Given the description of an element on the screen output the (x, y) to click on. 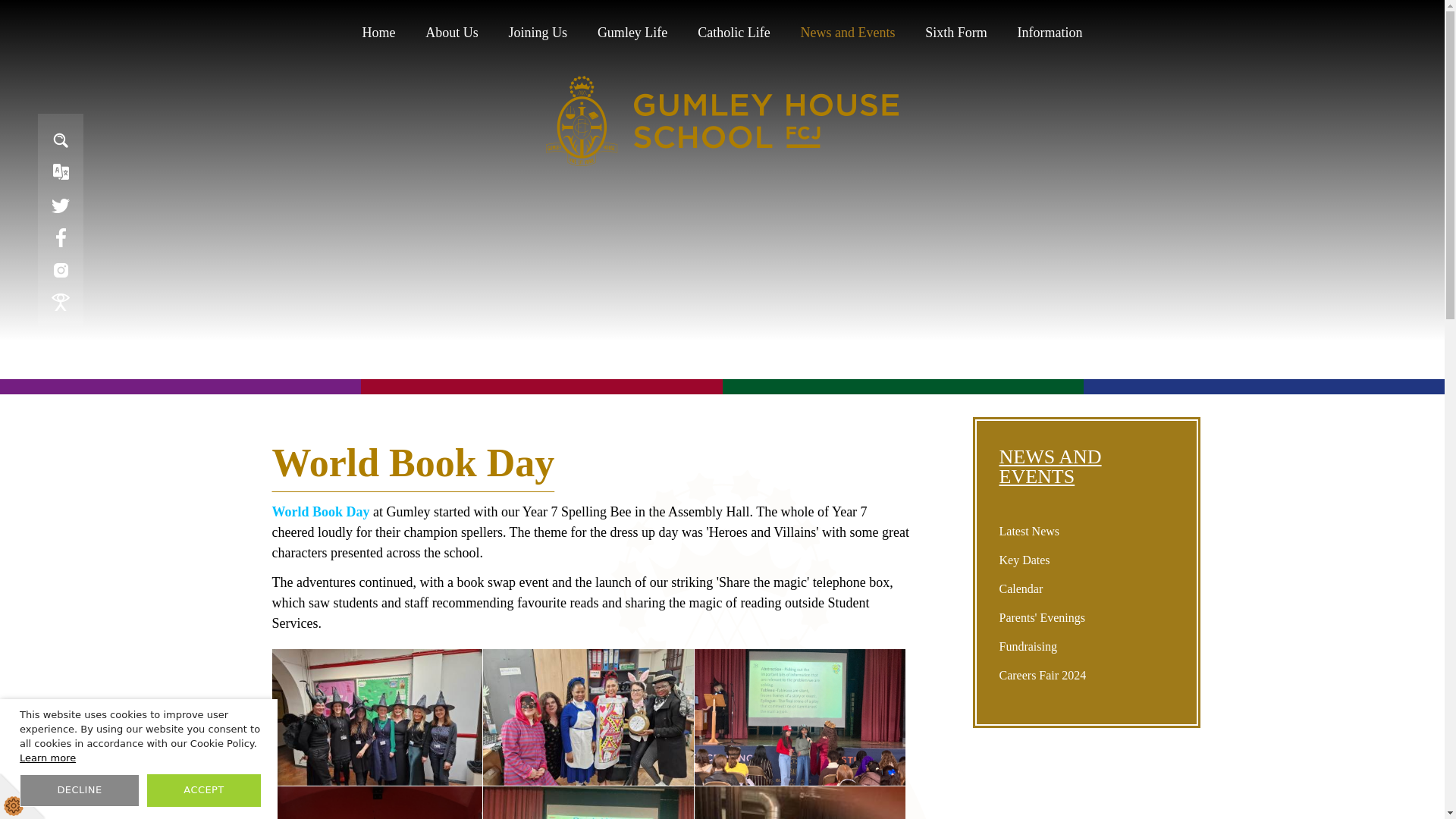
Home (377, 32)
Joining Us (537, 32)
Gumley Life (631, 32)
About Us (452, 32)
